Given the description of an element on the screen output the (x, y) to click on. 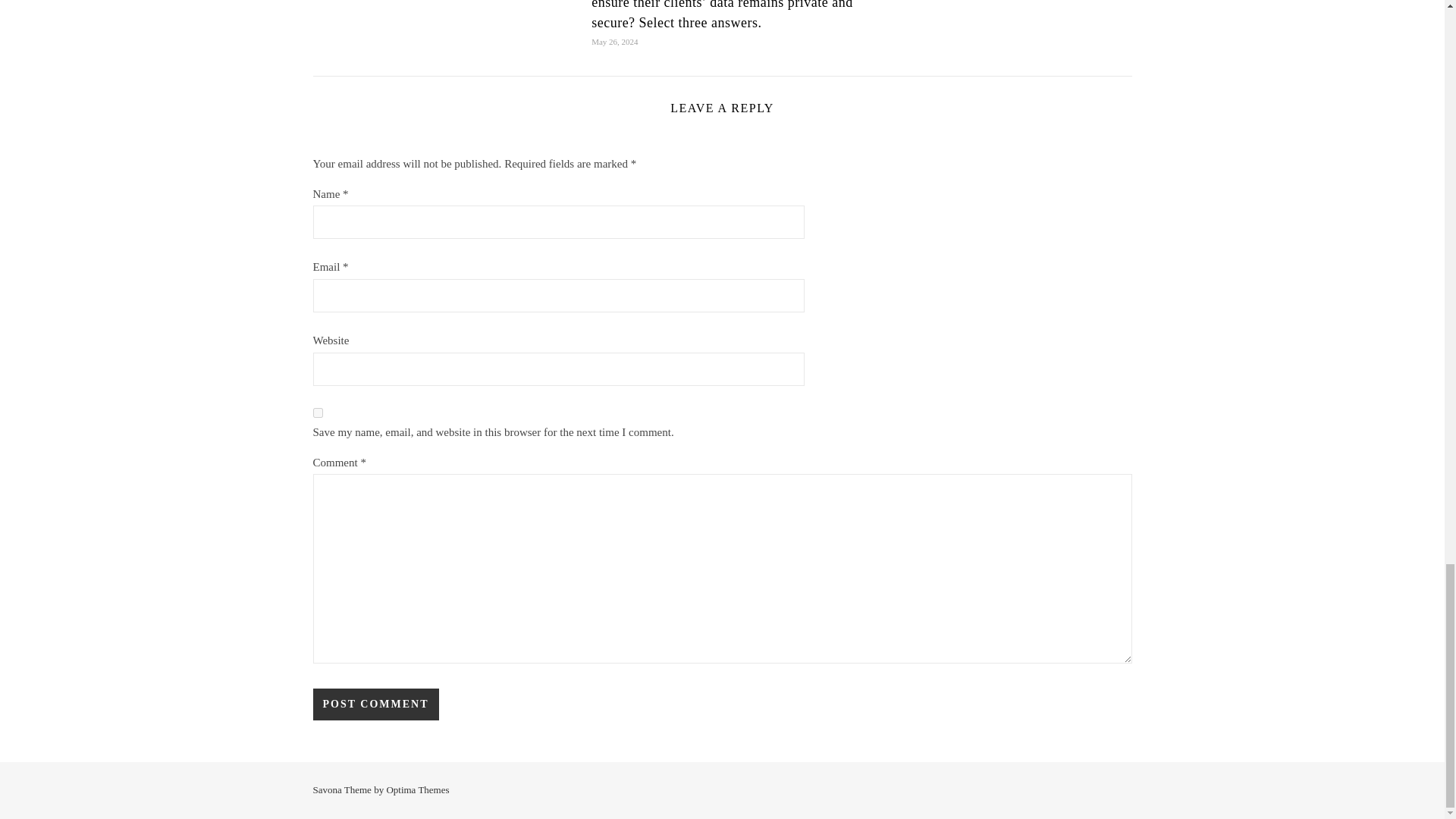
yes (317, 412)
Post Comment (375, 704)
Optima Themes (416, 789)
Post Comment (375, 704)
